Given the description of an element on the screen output the (x, y) to click on. 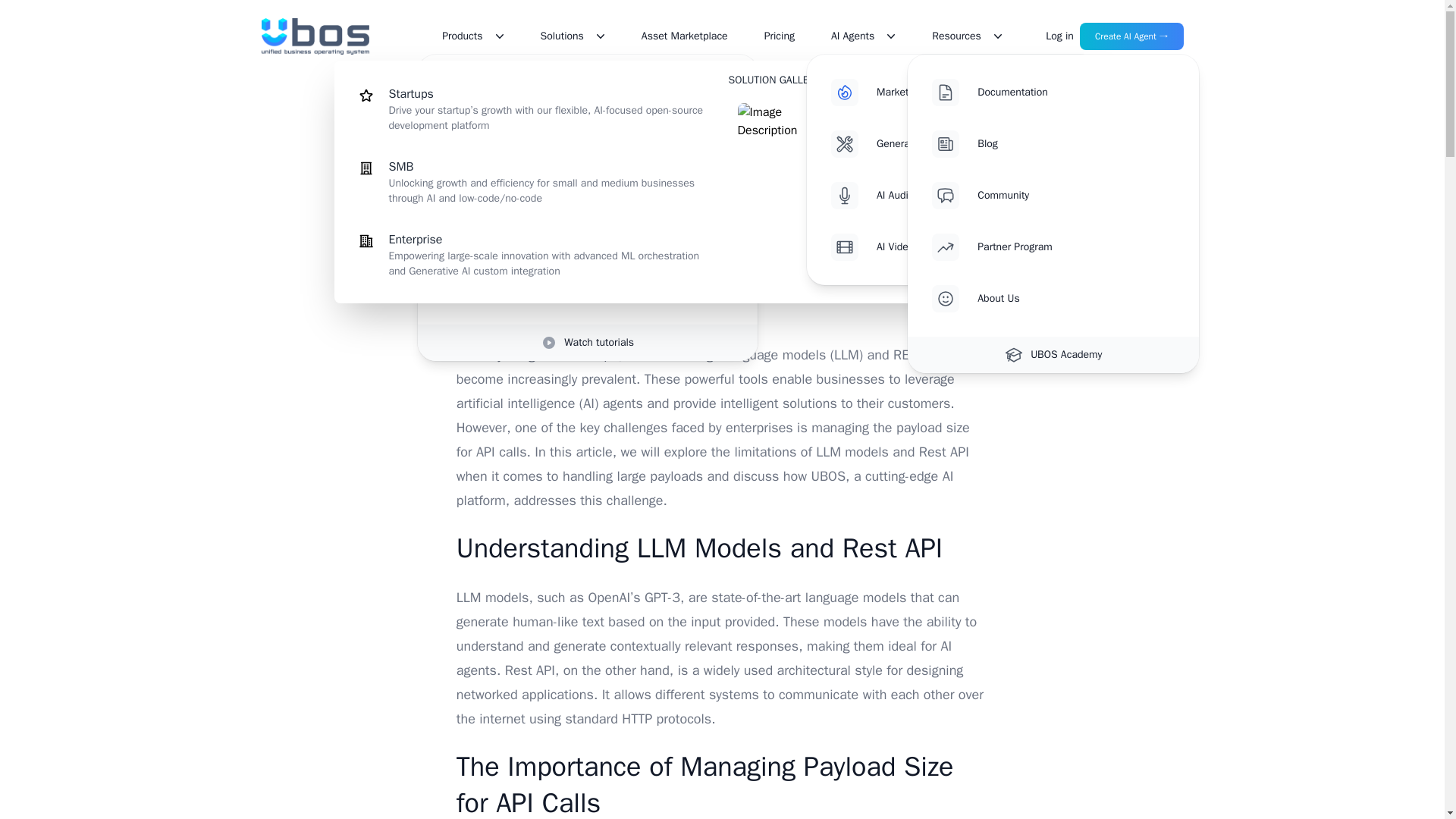
About Us (1075, 298)
Asset Marketplace (685, 36)
Community (1075, 195)
UBOS Academy (1052, 354)
UBOS (315, 35)
Resources (967, 36)
Log in (1059, 36)
Partner Program (1075, 247)
Blog (1075, 144)
